Given the description of an element on the screen output the (x, y) to click on. 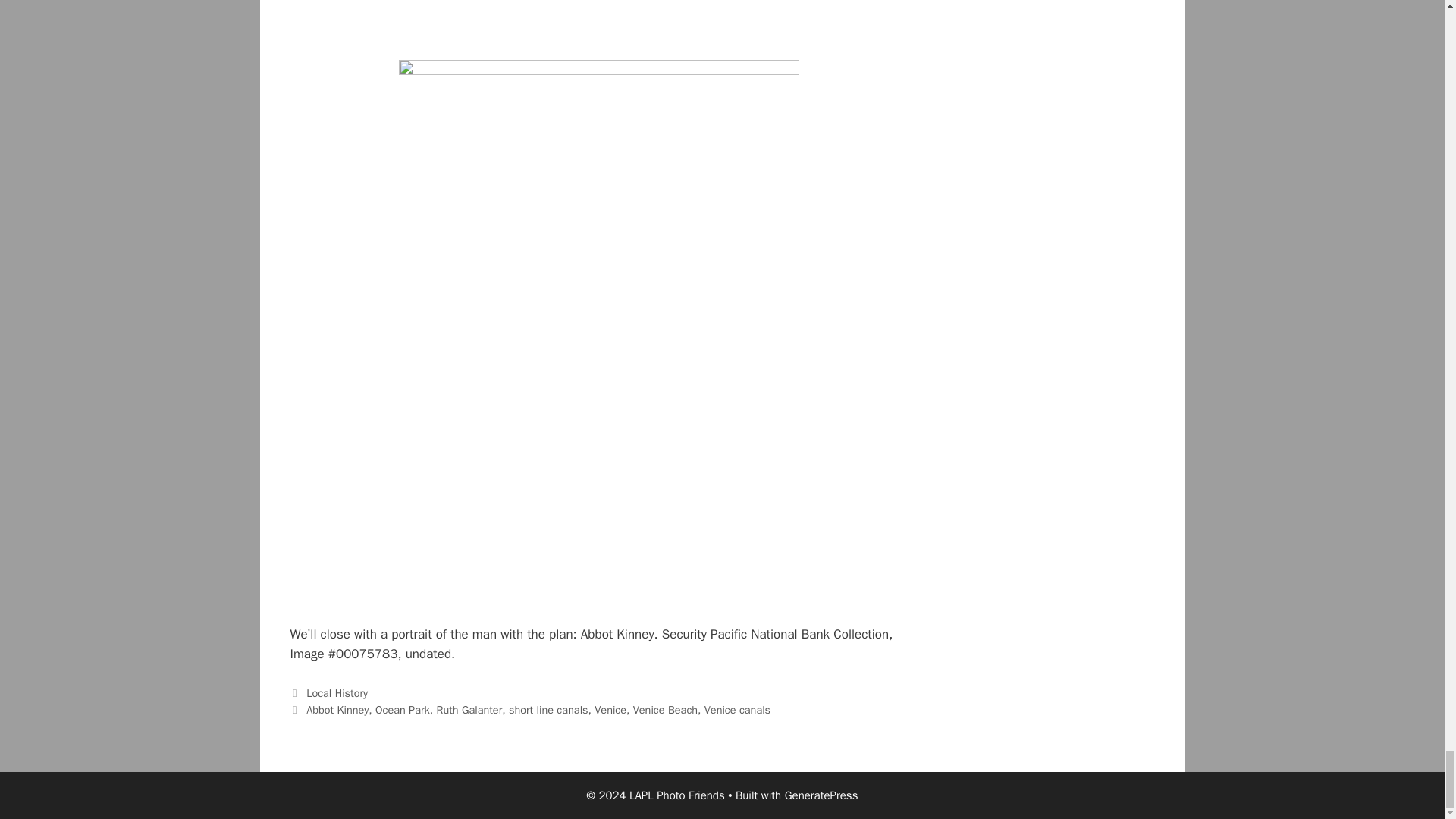
Ocean Park (402, 709)
Ruth Galanter (468, 709)
Abbot Kinney (336, 709)
Local History (336, 693)
